Given the description of an element on the screen output the (x, y) to click on. 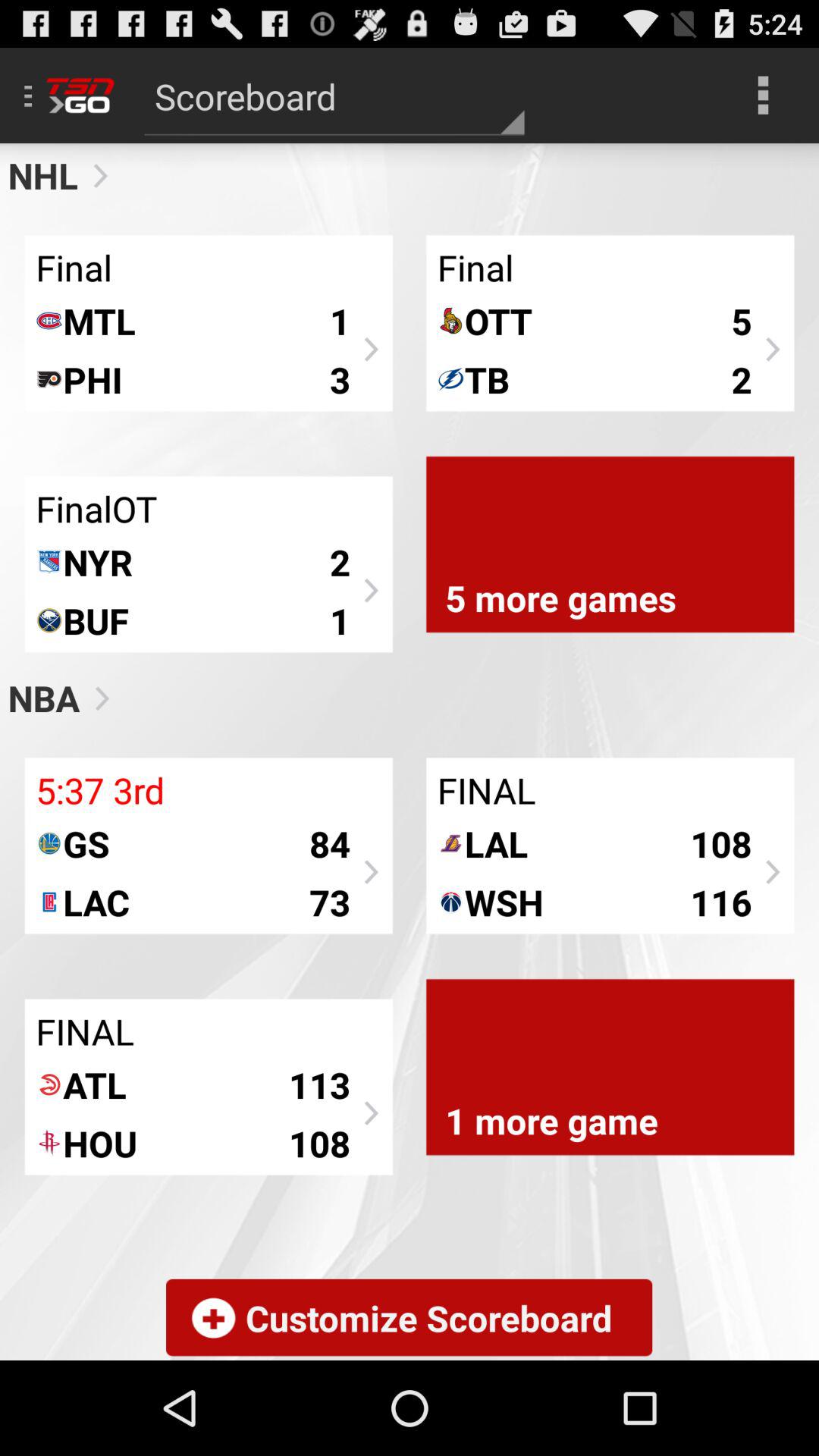
select item to the right of scoreboard (763, 95)
